Given the description of an element on the screen output the (x, y) to click on. 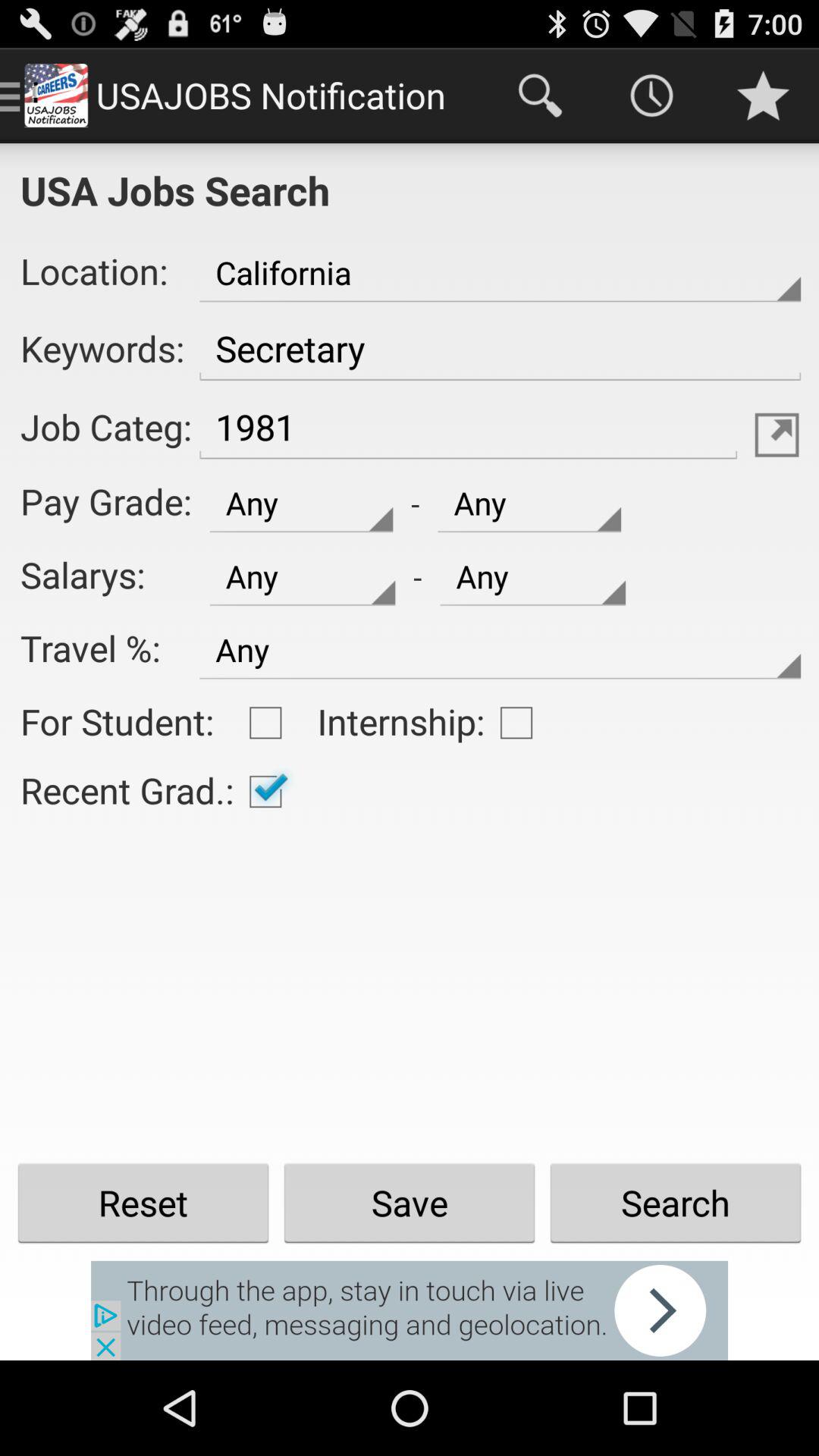
check here if you are a recent graduate (265, 791)
